Given the description of an element on the screen output the (x, y) to click on. 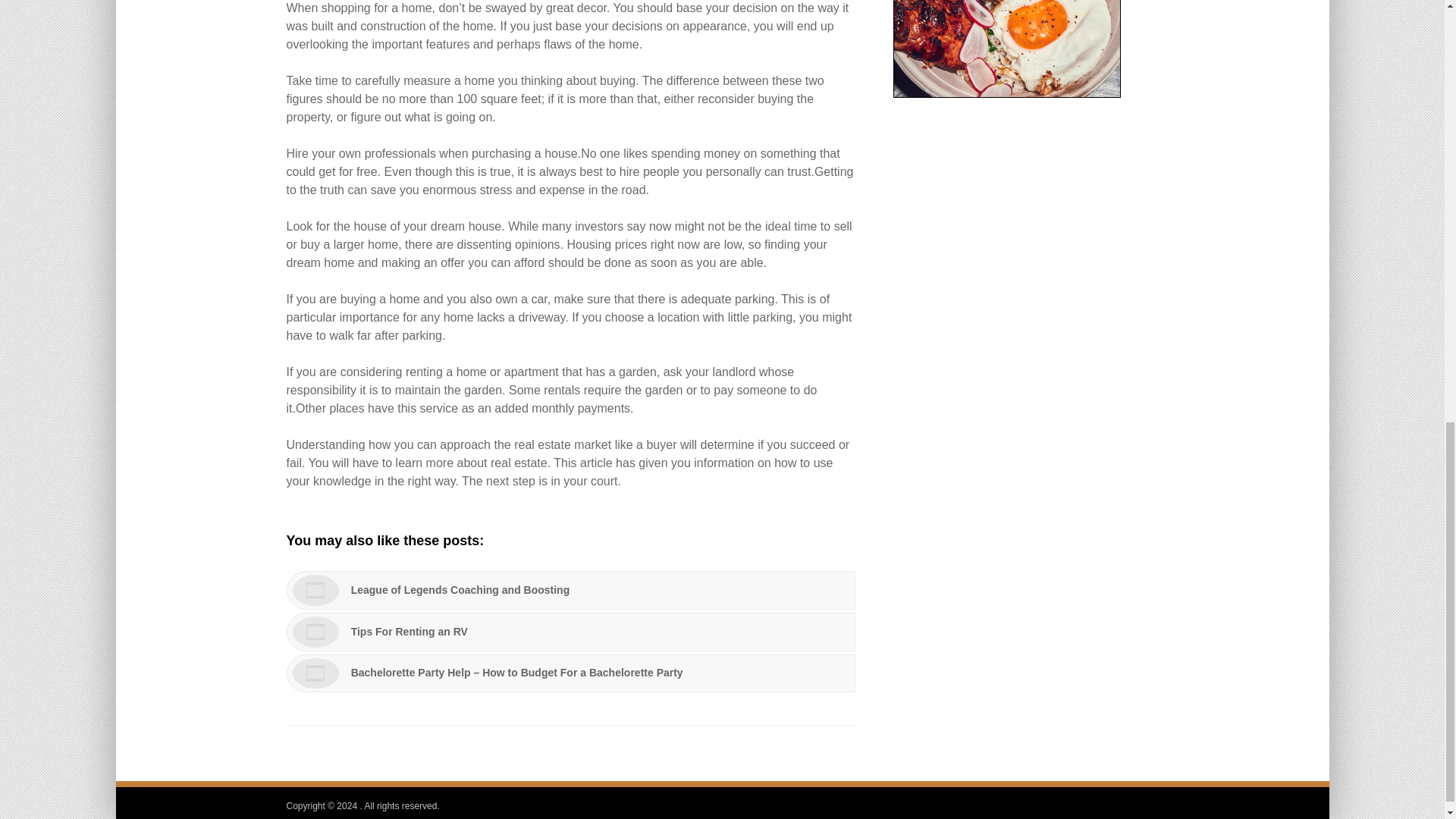
Tips For Renting an RV (571, 631)
Tips For Renting an RV (571, 631)
League of Legends Coaching and Boosting (571, 589)
League of Legends Coaching and Boosting (571, 589)
